Given the description of an element on the screen output the (x, y) to click on. 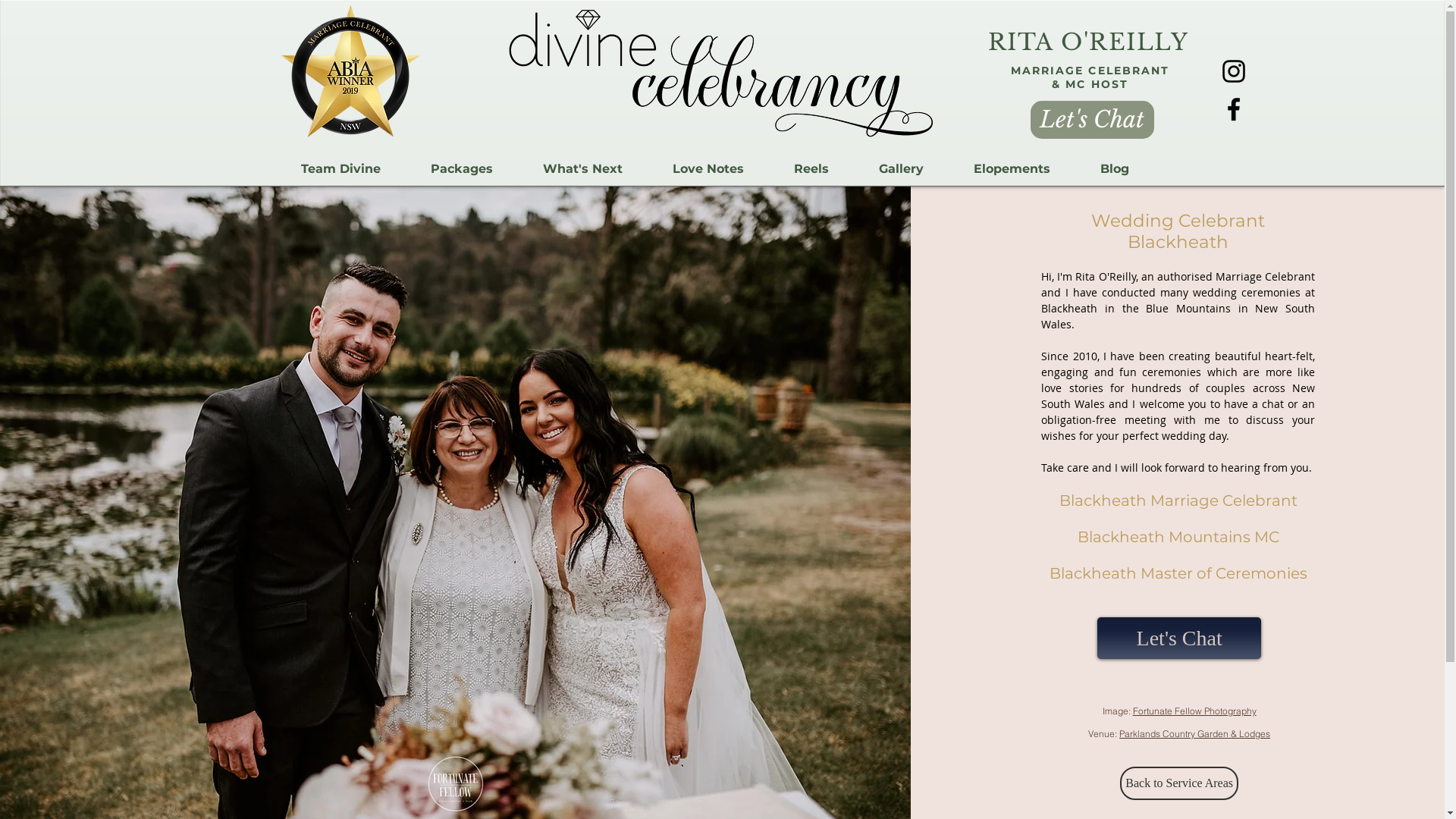
Reels Element type: text (810, 168)
Team Divine Element type: text (340, 168)
Let's Chat Element type: text (1091, 119)
Elopements Element type: text (1010, 168)
Parklands Country Garden & Lodges Element type: text (1194, 733)
Gallery Element type: text (900, 168)
Packages Element type: text (460, 168)
Fortunate Fellow Photography Element type: text (1194, 710)
RITA O'REILLY Element type: text (1087, 42)
Let's Chat Element type: text (1179, 637)
MARRIAGE CELEBRANT
& MC HOST Element type: text (1090, 77)
What's Next Element type: text (581, 168)
Blog Element type: text (1114, 168)
Back to Service Areas Element type: text (1179, 783)
Love Notes Element type: text (707, 168)
